Given the description of an element on the screen output the (x, y) to click on. 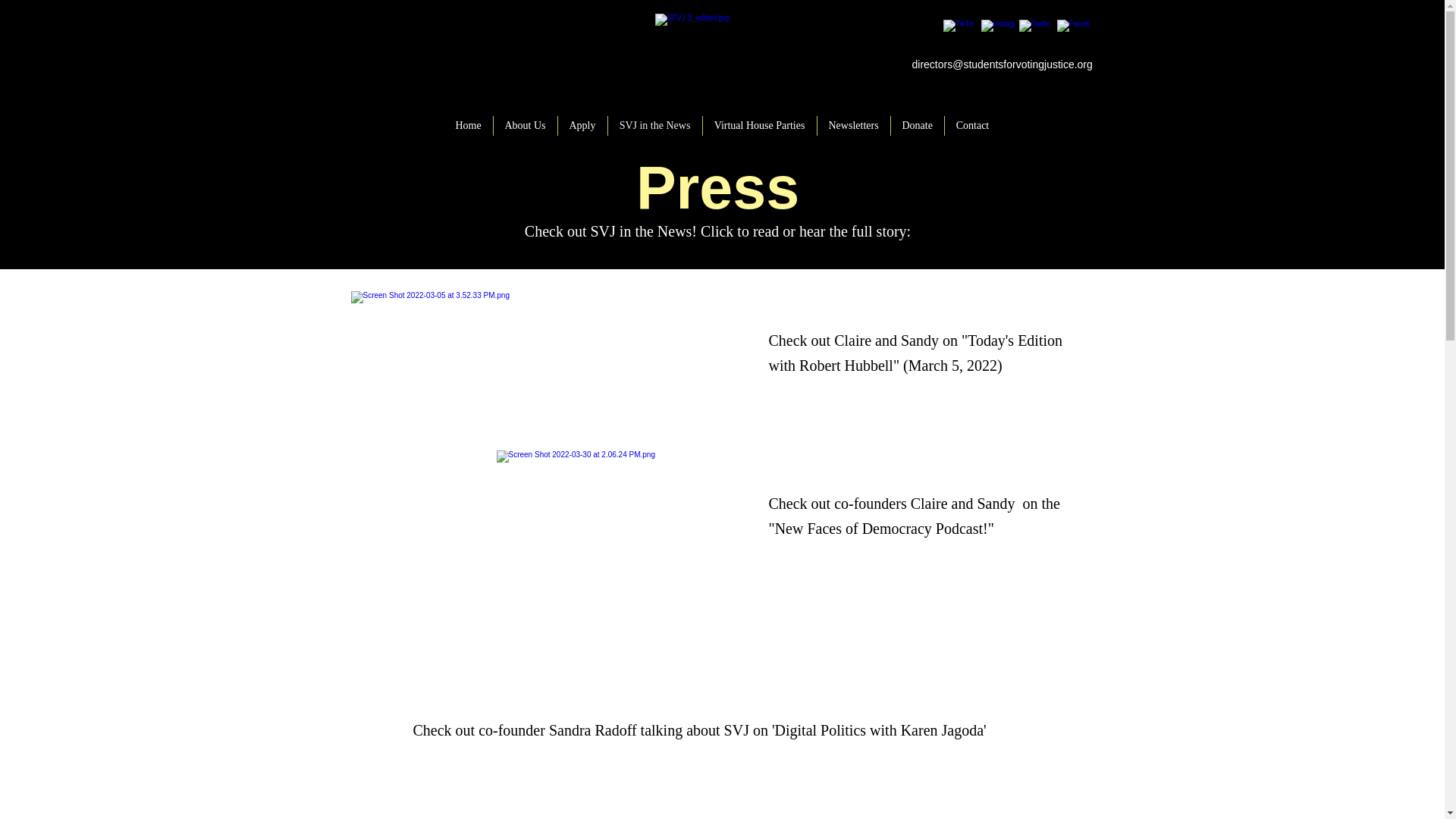
Home (468, 125)
About Us (524, 125)
Apply (582, 125)
SVJ in the News (654, 125)
Donate (916, 125)
Virtual House Parties (758, 125)
Contact (972, 125)
Newsletters (852, 125)
